Given the description of an element on the screen output the (x, y) to click on. 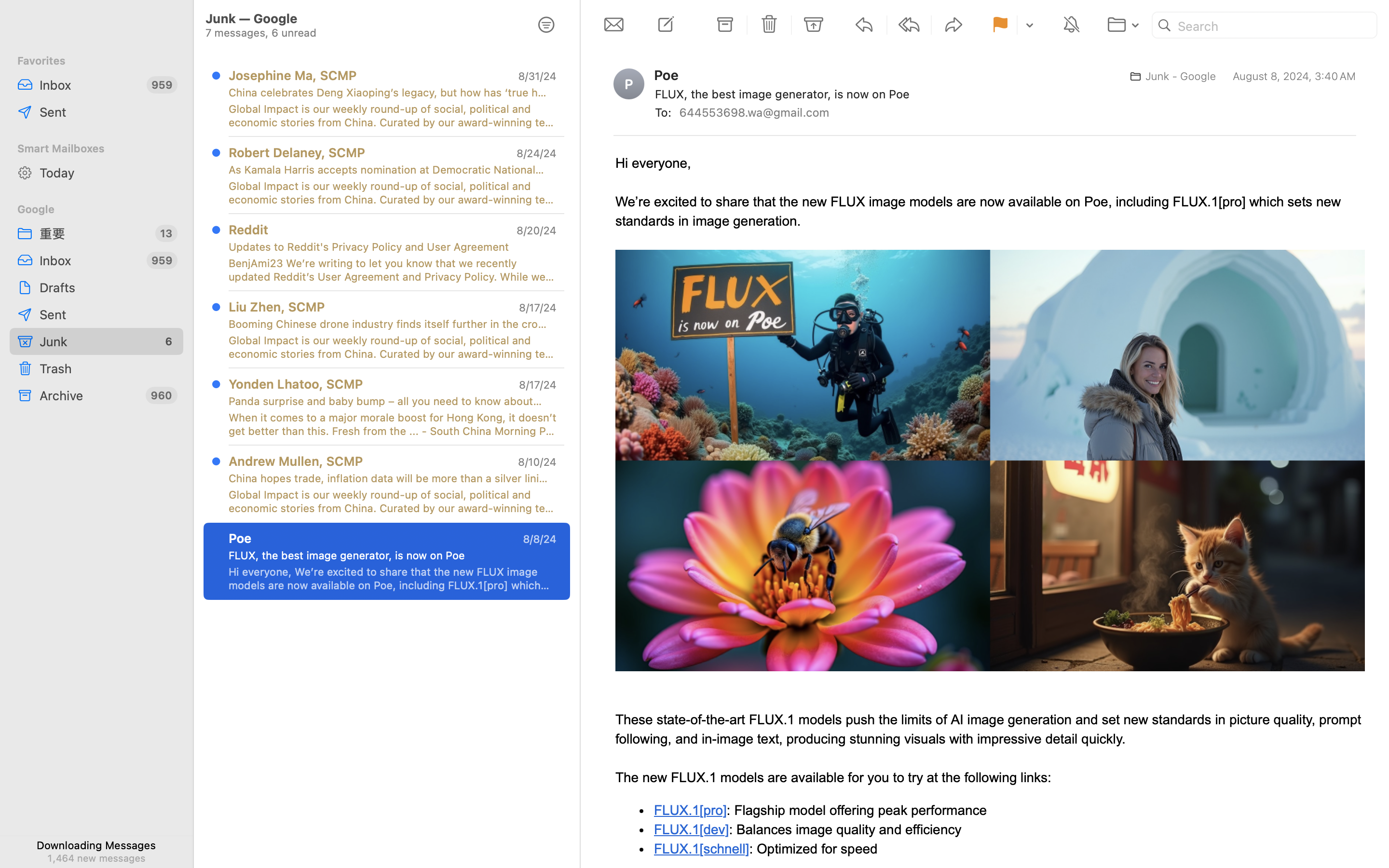
Booming Chinese drone industry finds itself further in the cross hairs of escalating US tech war Element type: AXStaticText (388, 323)
Favorites Element type: AXStaticText (96, 60)
Liu Zhen, SCMP Element type: AXStaticText (276, 306)
Robert Delaney, SCMP Element type: AXStaticText (296, 152)
Global Impact is our weekly round-up of social, political and economic stories from China. Curated by our award-winning team of ... - South China Morning Post, SCMP, Global Impact - Global Impact is our weekly round-up of social, political and economic stories from China. Curated by our award-winning team of ... This newsletter is now only available to our digital subscribers. Subscribe to a 1-year plan with a 25% discount for the first year to continue to receive this newsletter along with unlimited access to SCMP.com. Was this newsletter forwarded to you? Sign up here China politics & diplomacy China marks 120th anniversary of Deng Xiaoping, the man who changed China Andrew Mullen Deputy Editor, Political Economy 31 August 2024 Global Impact is our weekly round-up of social, political and economic stories from China. Curated by our award-winning team of journalists, this must-read newsletter explores the impact and significance of those stories around the globe. Since July 2023, Glob Element type: AXStaticText (392, 115)
